Given the description of an element on the screen output the (x, y) to click on. 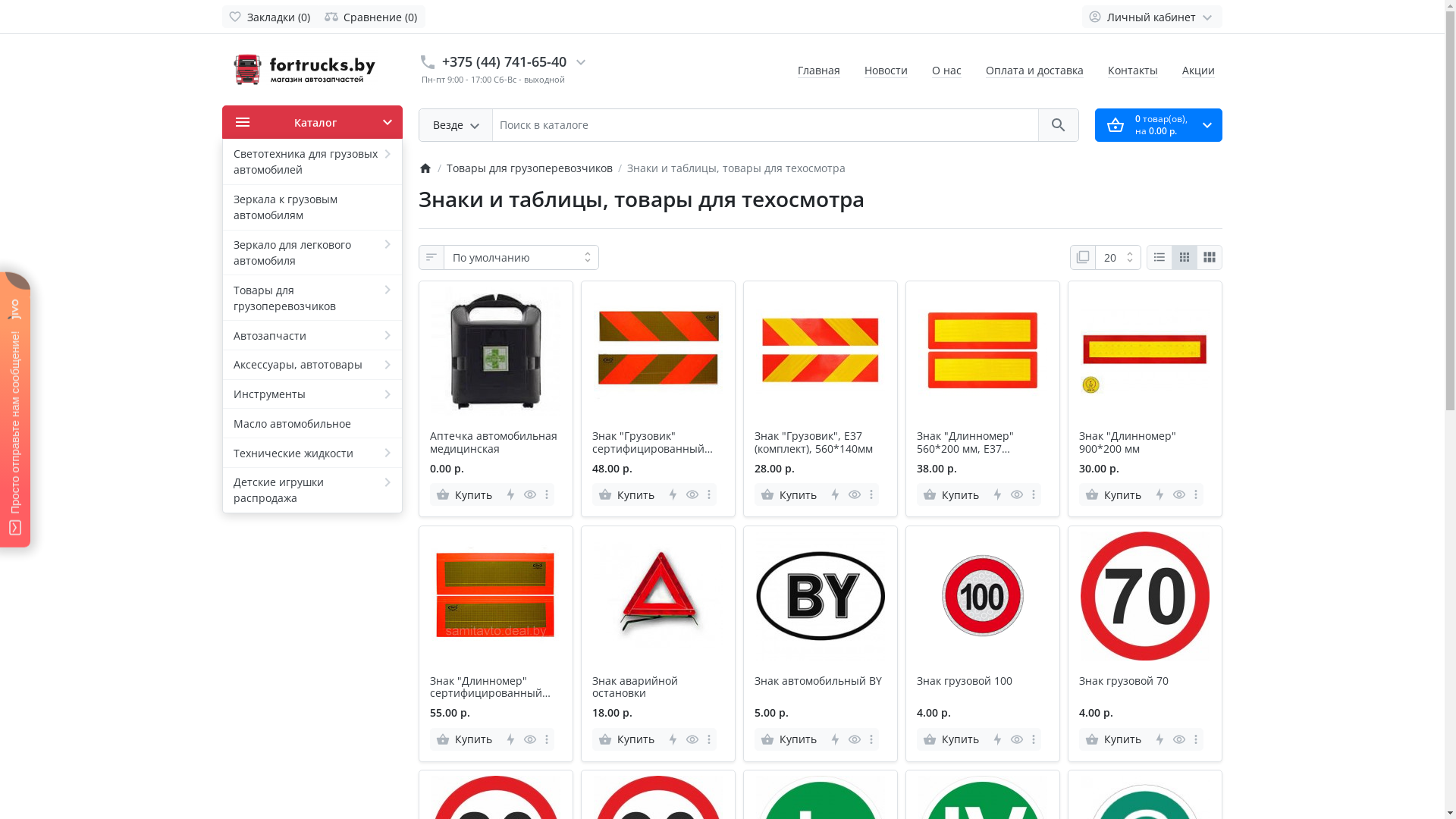
+375 (44) 741-65-40 Element type: text (504, 61)
